Given the description of an element on the screen output the (x, y) to click on. 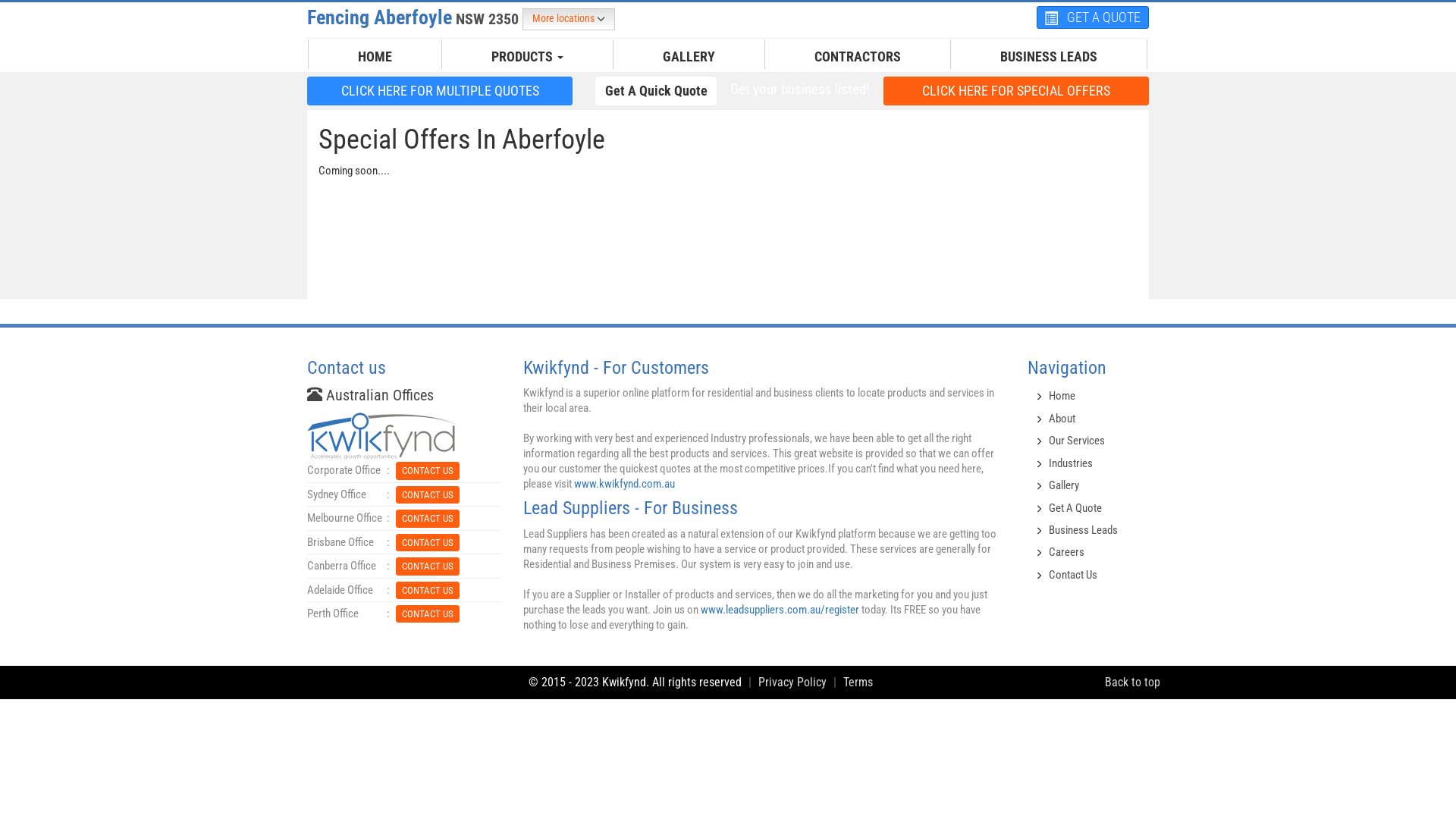
Fencing Aberfoyle NSW 2350 Element type: text (414, 17)
CONTACT US Element type: text (427, 470)
CONTACT US Element type: text (427, 493)
www.kwikfynd.com.au Element type: text (624, 483)
CLICK HERE FOR MULTIPLE QUOTES Element type: text (439, 90)
CONTACT US Element type: text (427, 612)
More locations Element type: text (568, 19)
Get A Quick Quote Element type: text (655, 90)
Careers Element type: text (1066, 551)
Industries Element type: text (1070, 463)
Get A Quick Quote Element type: text (655, 90)
CONTACT US Element type: text (427, 469)
CONTACT US Element type: text (427, 565)
CLICK HERE FOR MULTIPLE QUOTES Element type: text (439, 90)
www.leadsuppliers.com.au/register Element type: text (779, 609)
CLICK HERE FOR SPECIAL OFFERS Element type: text (1015, 90)
Terms Element type: text (857, 681)
CONTACT US Element type: text (427, 613)
Gallery Element type: text (1063, 485)
CONTACT US Element type: text (427, 590)
About Element type: text (1061, 418)
GALLERY Element type: text (688, 56)
GET A QUOTE Element type: text (1092, 17)
Business Leads Element type: text (1082, 529)
CONTACT US Element type: text (427, 589)
BUSINESS LEADS Element type: text (1048, 56)
HOME Element type: text (374, 56)
CONTACT US Element type: text (427, 541)
Home Element type: text (1061, 395)
Our Services Element type: text (1076, 440)
CLICK HERE FOR SPECIAL OFFERS Element type: text (1015, 90)
CONTACT US Element type: text (427, 518)
CONTACT US Element type: text (427, 542)
PRODUCTS Element type: text (527, 56)
Get your business listed! Element type: text (800, 89)
Privacy Policy Element type: text (792, 681)
Back to top Element type: text (1132, 681)
Contact Us Element type: text (1072, 574)
Get A Quote Element type: text (1074, 507)
CONTRACTORS Element type: text (857, 56)
CONTACT US Element type: text (427, 517)
CONTACT US Element type: text (427, 494)
CONTACT US Element type: text (427, 565)
